Given the description of an element on the screen output the (x, y) to click on. 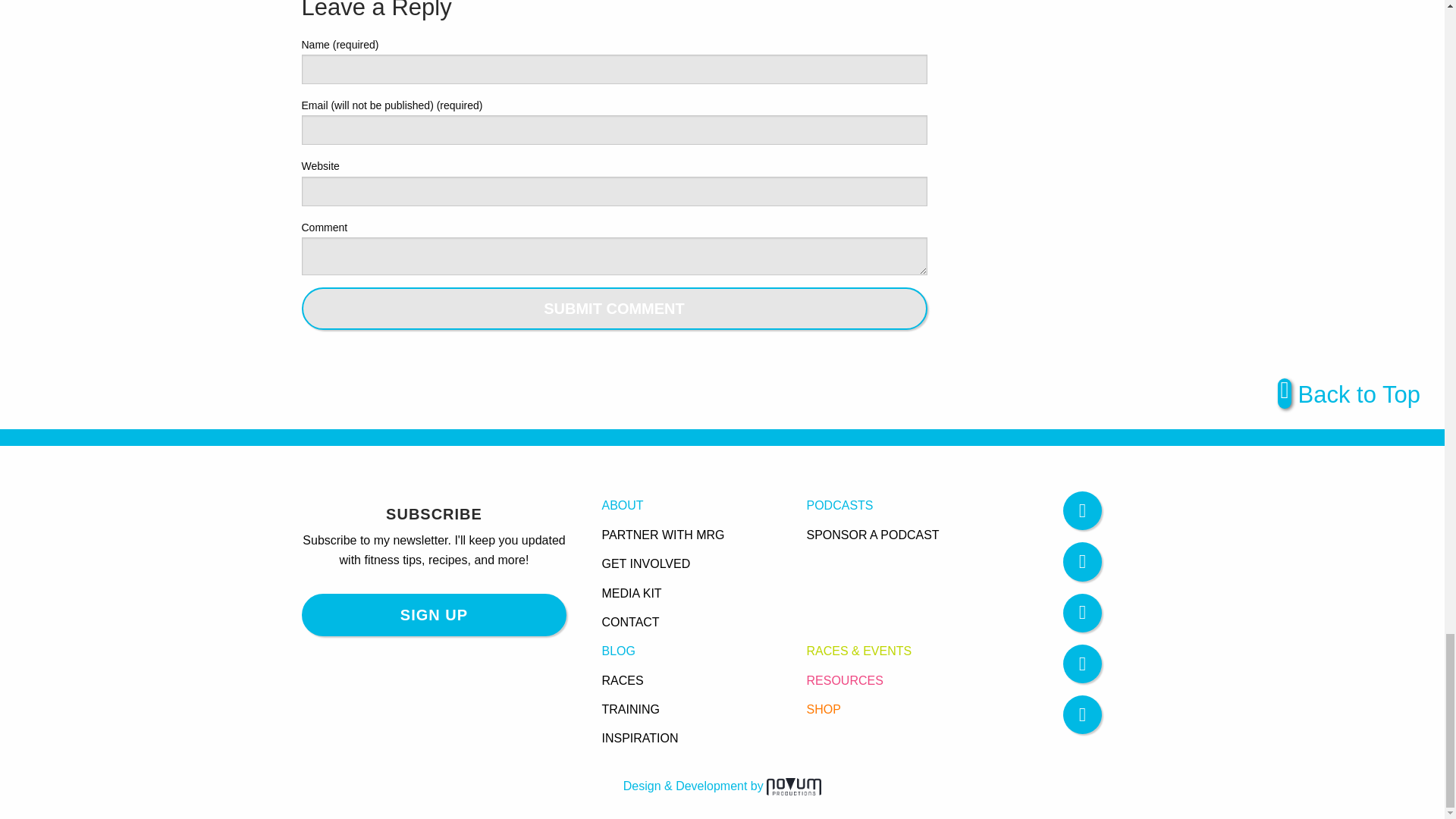
Submit Comment (614, 308)
Back to Top (1349, 397)
